Given the description of an element on the screen output the (x, y) to click on. 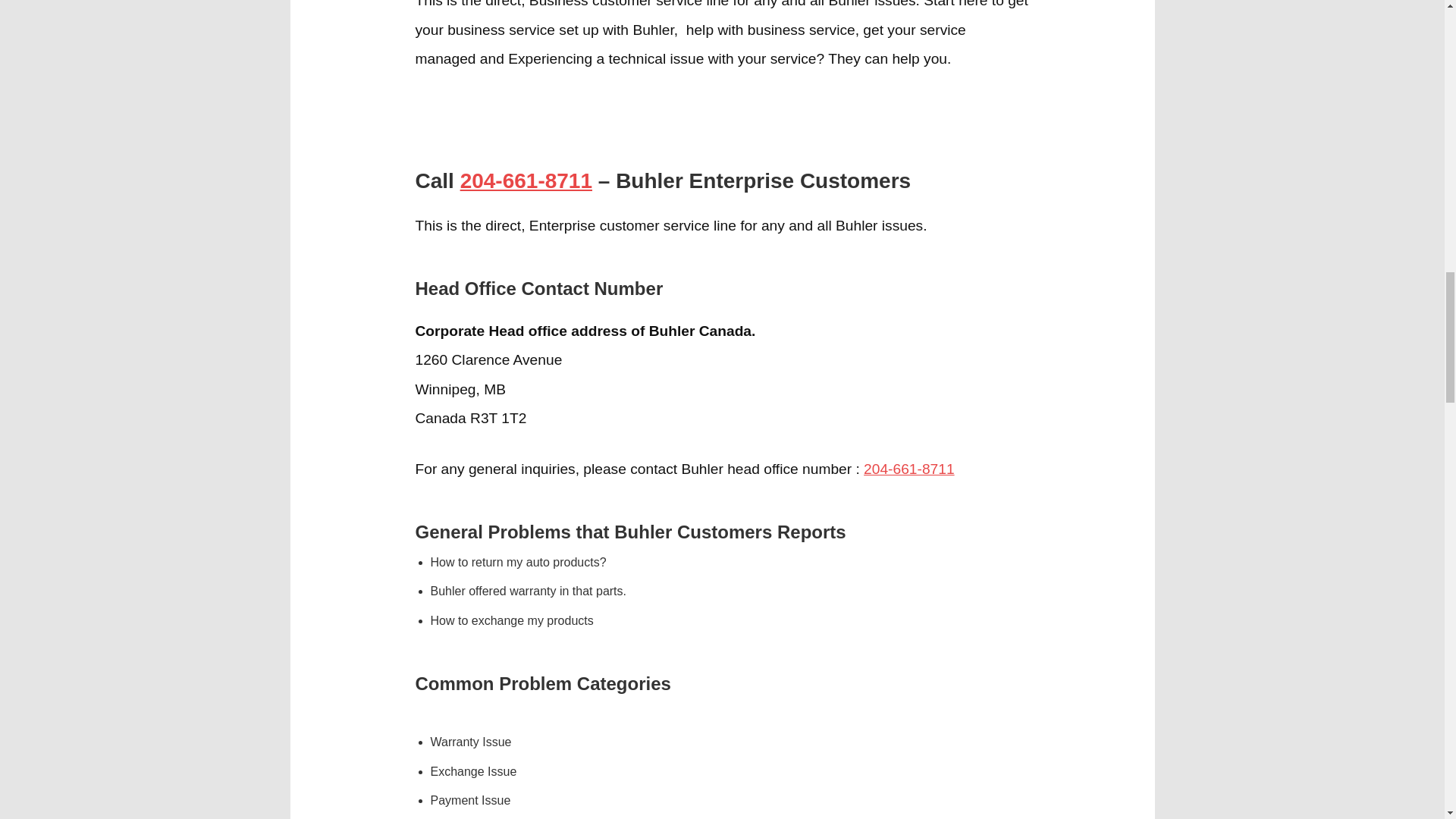
204-661-8711 (526, 180)
204-661-8711 (909, 468)
